Given the description of an element on the screen output the (x, y) to click on. 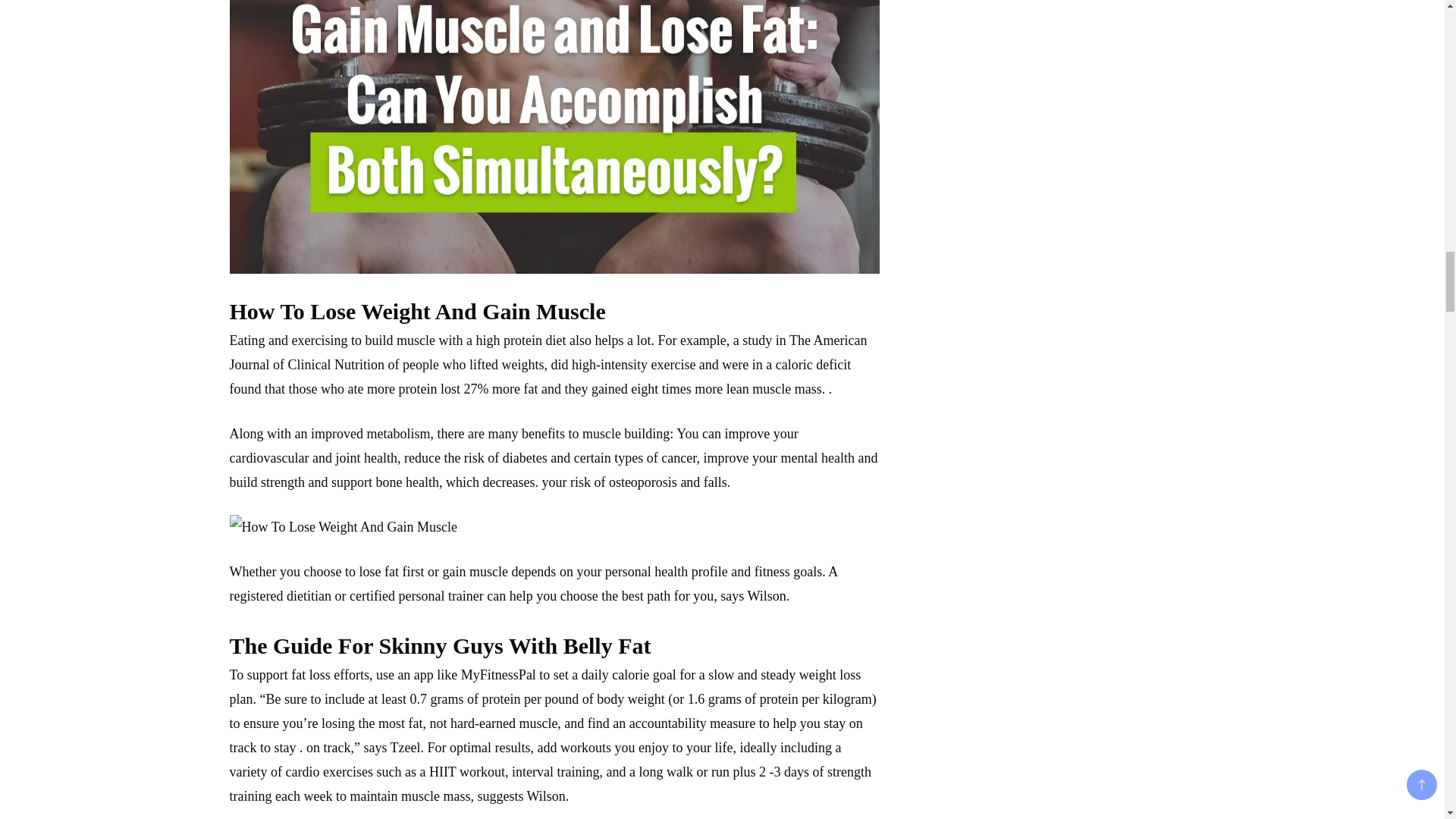
How To Lose Weight And Gain Muscle (342, 526)
